Given the description of an element on the screen output the (x, y) to click on. 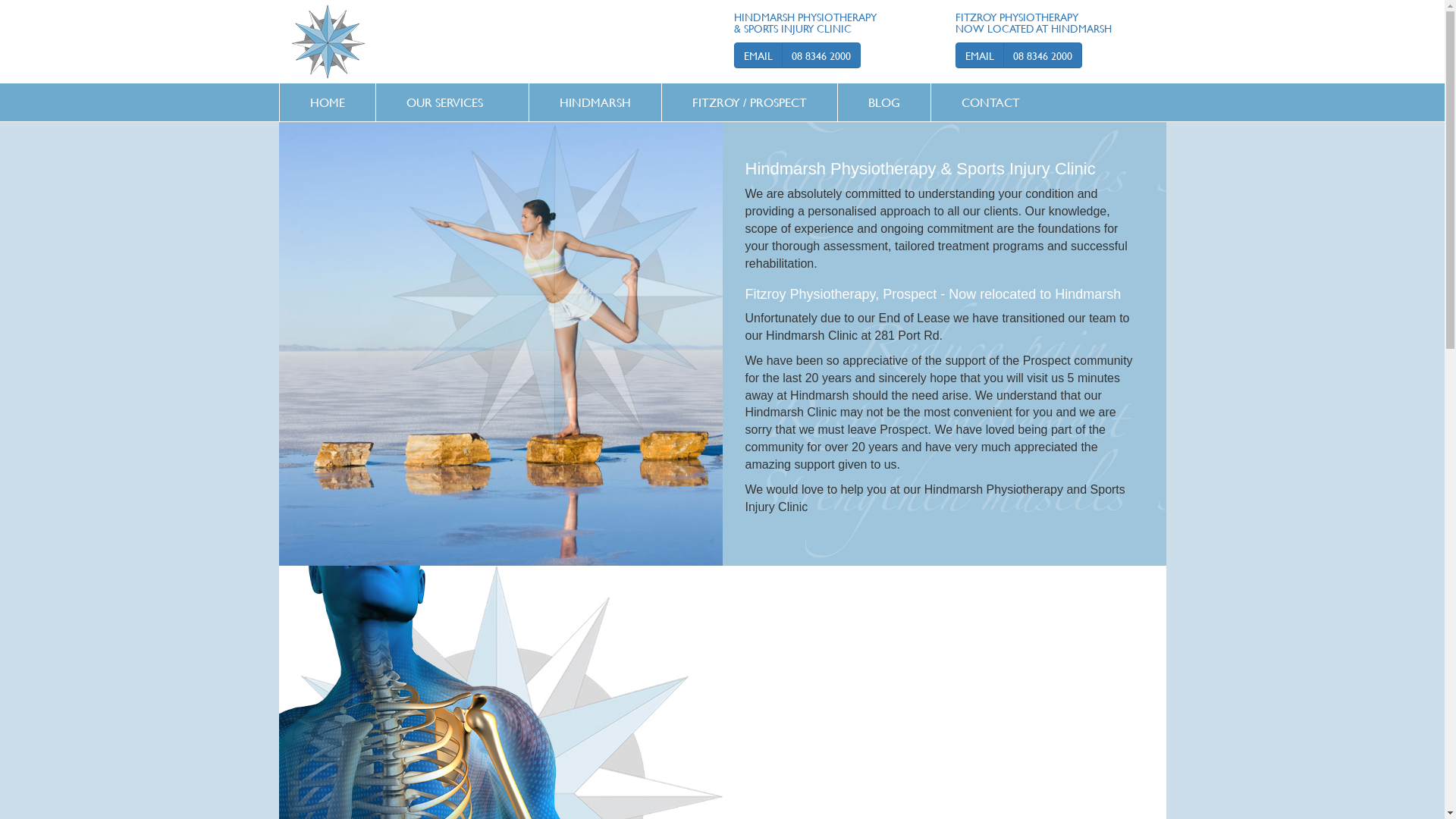
EMAIL Element type: text (758, 55)
HOME Element type: text (326, 102)
08 8346 2000 Element type: text (820, 55)
OUR SERVICES Element type: text (444, 102)
FITZROY / PROSPECT Element type: text (748, 102)
08 8346 2000 Element type: text (1042, 55)
FITZROY PHYSIOTHERAPY
NOW LOCATED AT HINDMARSH Element type: text (1033, 21)
HINDMARSH PHYSIOTHERAPY
& SPORTS INJURY CLINIC Element type: text (805, 21)
EMAIL Element type: text (979, 55)
HINDMARSH Element type: text (595, 102)
CONTACT Element type: text (990, 102)
BLOG Element type: text (882, 102)
